Given the description of an element on the screen output the (x, y) to click on. 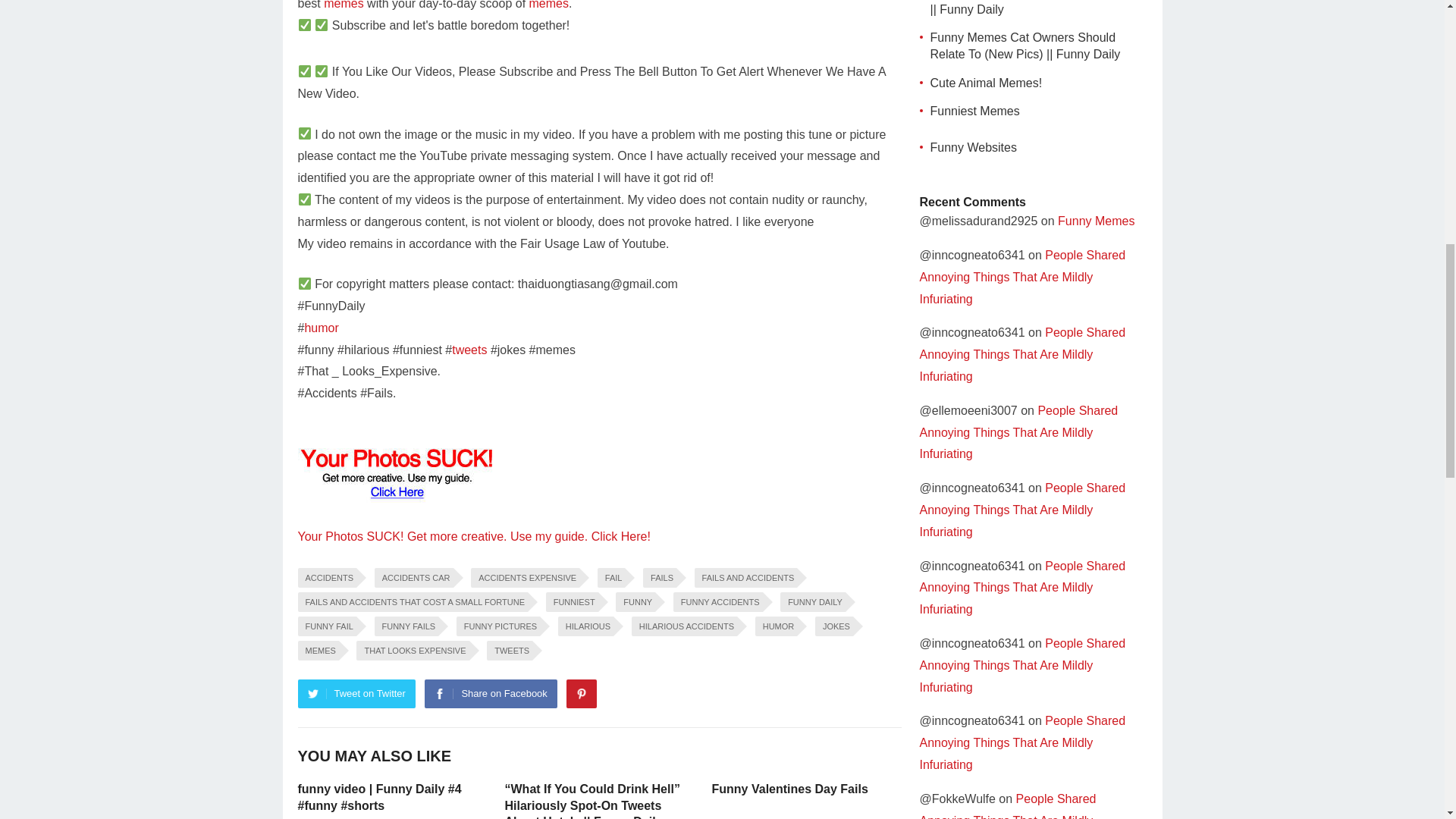
FAILS (660, 578)
humor (320, 327)
Your Photos Suck (396, 471)
Posts tagged with memes (342, 4)
memes (549, 4)
memes (342, 4)
Posts tagged with Humor (320, 327)
Posts tagged with memes (549, 4)
ACCIDENTS EXPENSIVE (524, 578)
ACCIDENTS (326, 578)
tweets (468, 349)
FAIL (611, 578)
Posts tagged with tweets (468, 349)
ACCIDENTS CAR (413, 578)
